Given the description of an element on the screen output the (x, y) to click on. 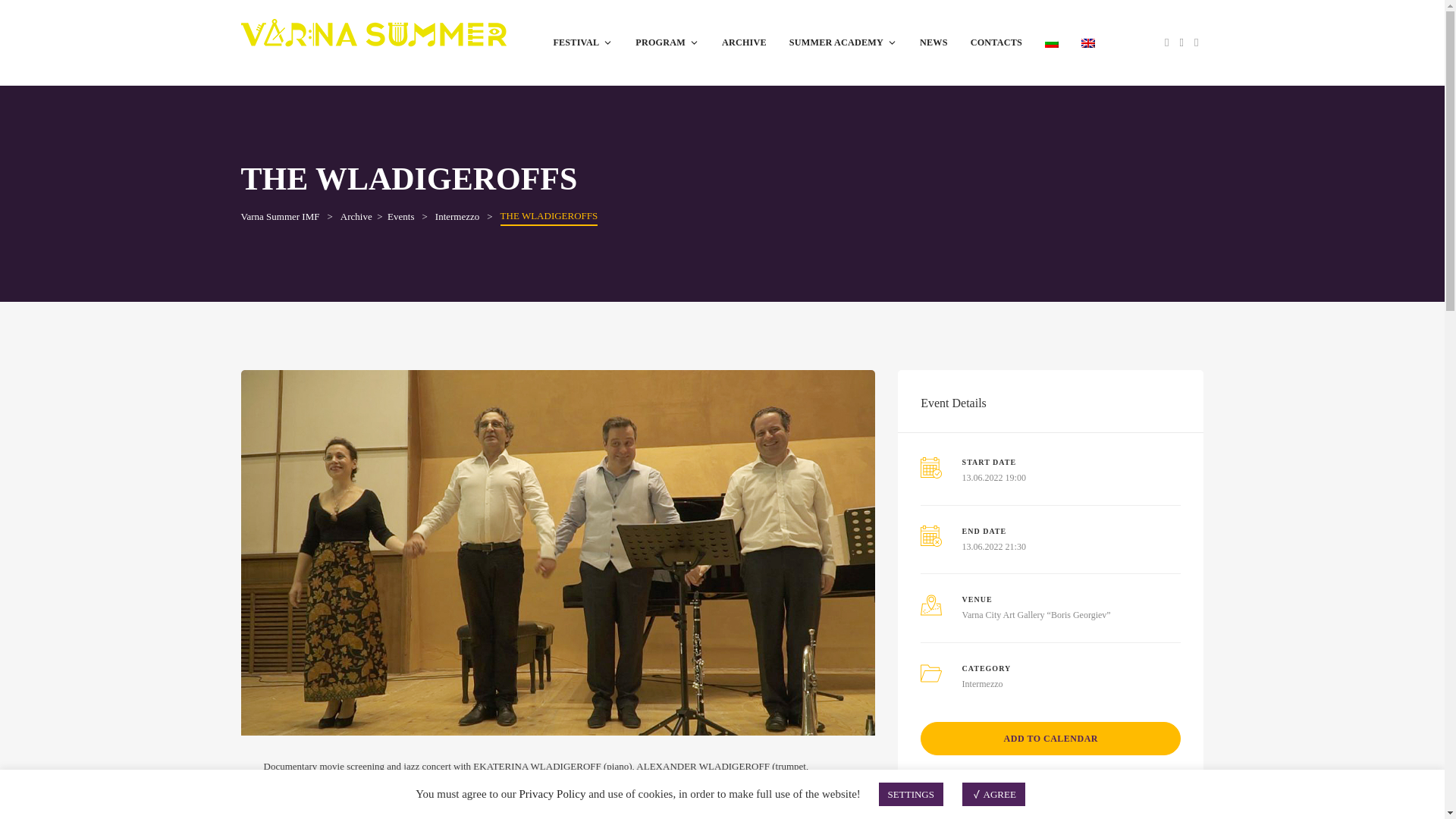
Varna Summer IMF (280, 215)
Intermezzo (457, 215)
Events (400, 215)
FESTIVAL (582, 42)
